Given the description of an element on the screen output the (x, y) to click on. 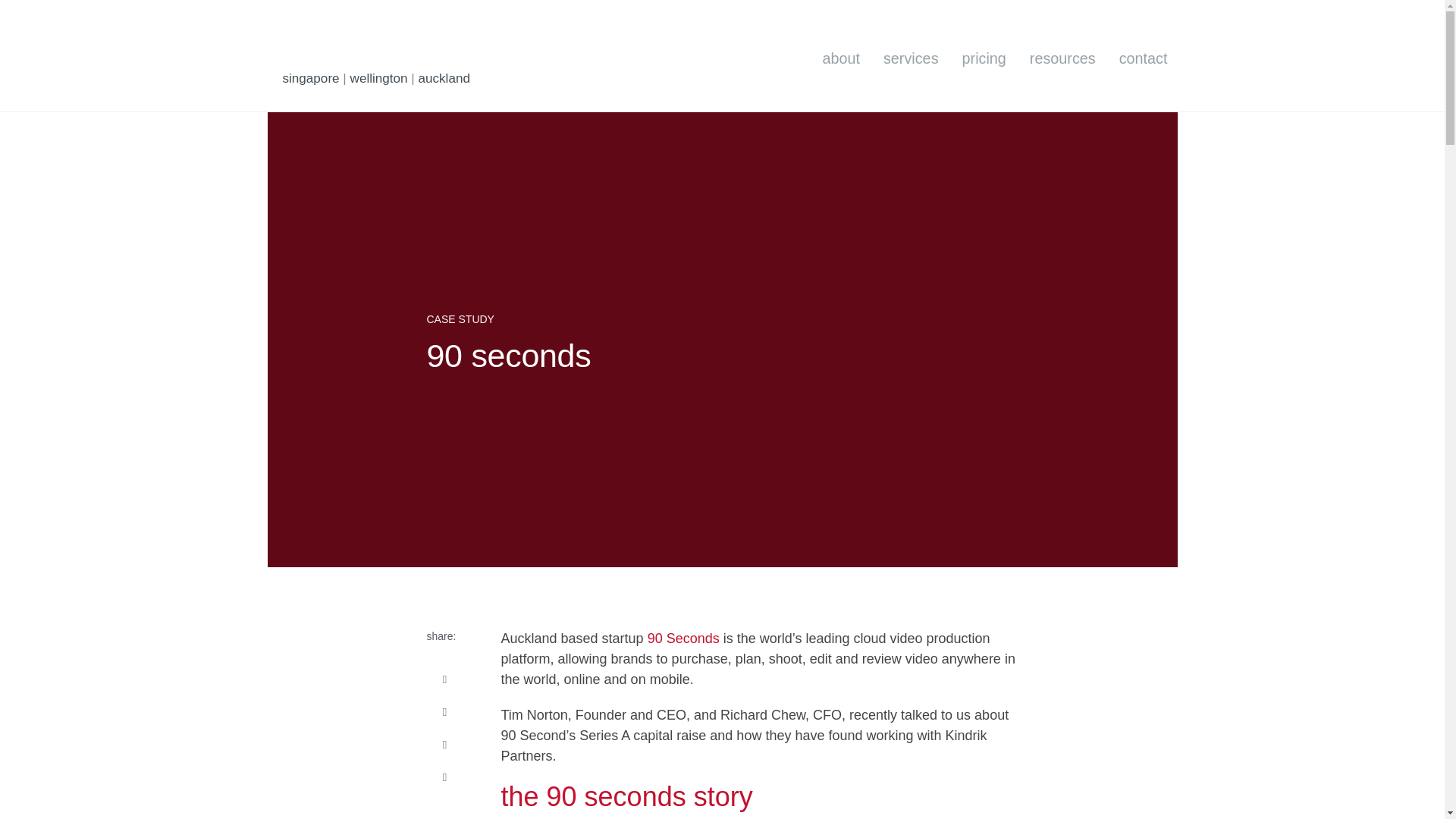
resources (1062, 59)
90 Seconds (683, 638)
services (910, 59)
about (840, 59)
contact (1143, 59)
wellington (378, 78)
pricing (984, 59)
kindrik.sg (342, 42)
singapore (310, 78)
auckland (444, 78)
